Given the description of an element on the screen output the (x, y) to click on. 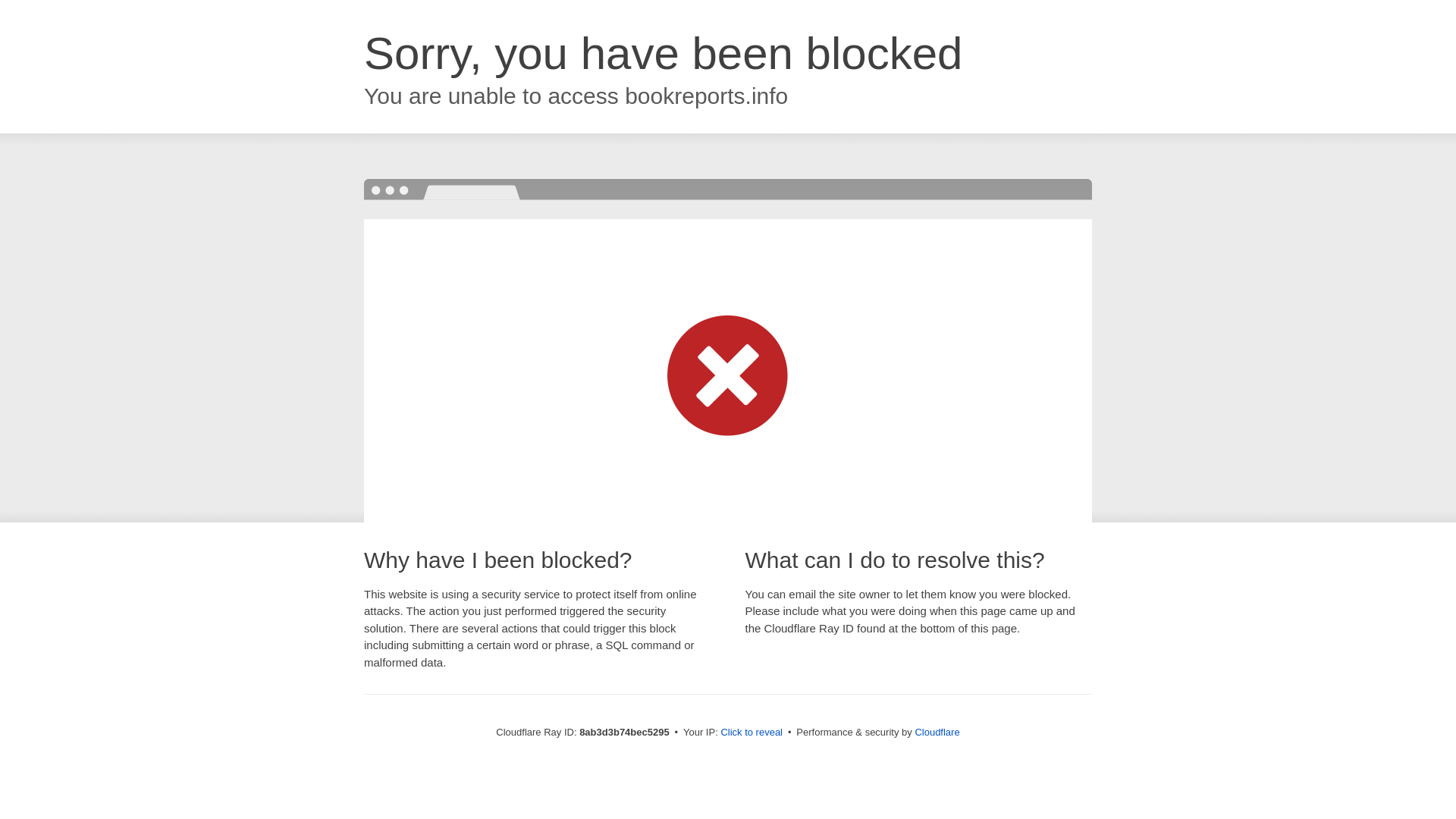
Cloudflare (936, 731)
Click to reveal (751, 732)
